Given the description of an element on the screen output the (x, y) to click on. 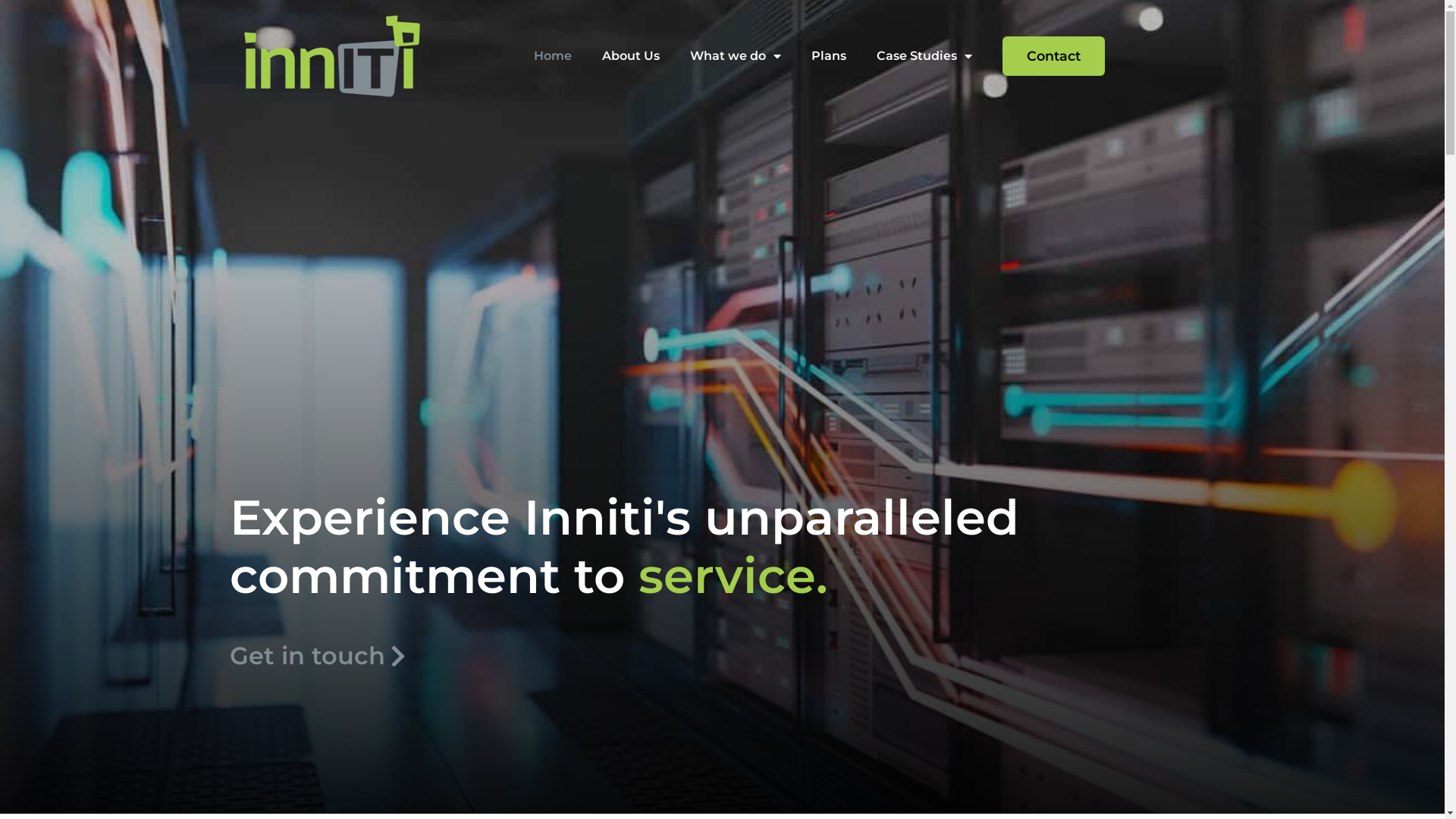
Case Studies Element type: text (924, 55)
Plans Element type: text (828, 55)
Get in touch Element type: text (328, 656)
About Us Element type: text (630, 55)
Home Element type: text (552, 55)
Contact Element type: text (1053, 55)
What we do Element type: text (735, 55)
